Given the description of an element on the screen output the (x, y) to click on. 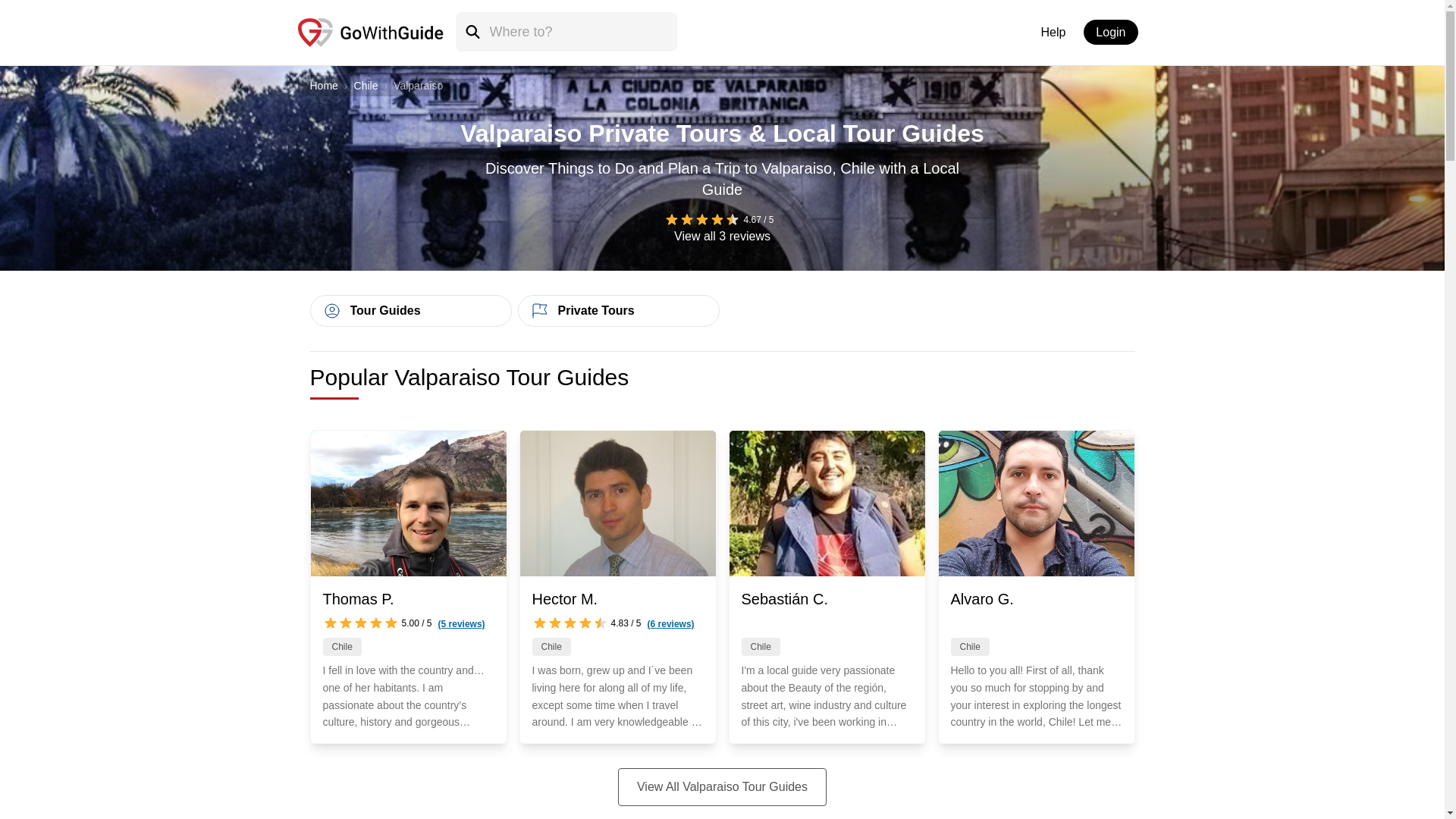
Private Tours (617, 310)
GoWithGuide (539, 311)
Chile (365, 85)
Tour Guides (409, 310)
View All Valparaiso Tour Guides (722, 786)
GoWithGuide (331, 311)
Login (1110, 32)
Home (322, 85)
Help (1053, 31)
